Given the description of an element on the screen output the (x, y) to click on. 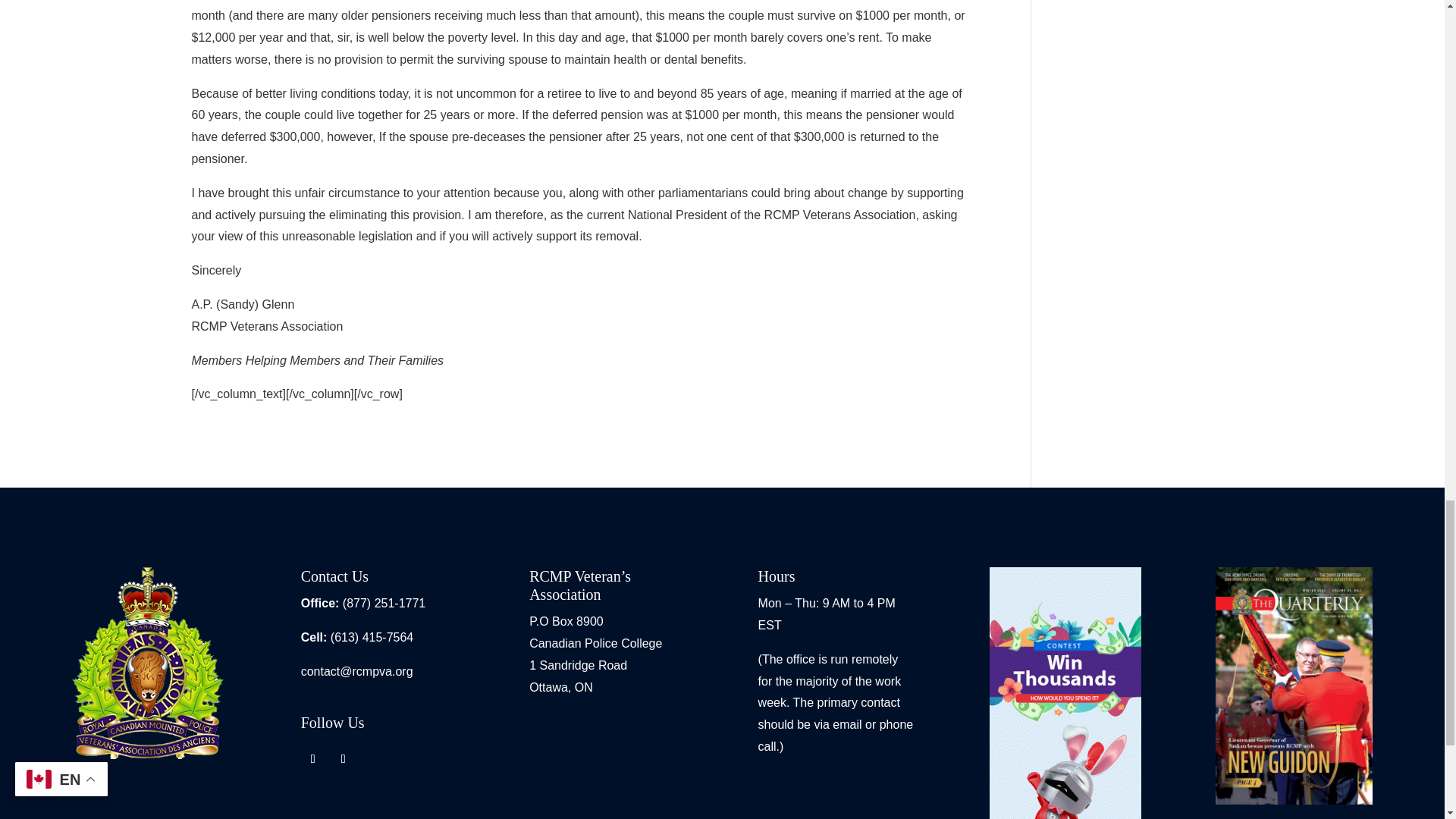
Follow on Facebook (312, 758)
Follow on X (343, 758)
